Given the description of an element on the screen output the (x, y) to click on. 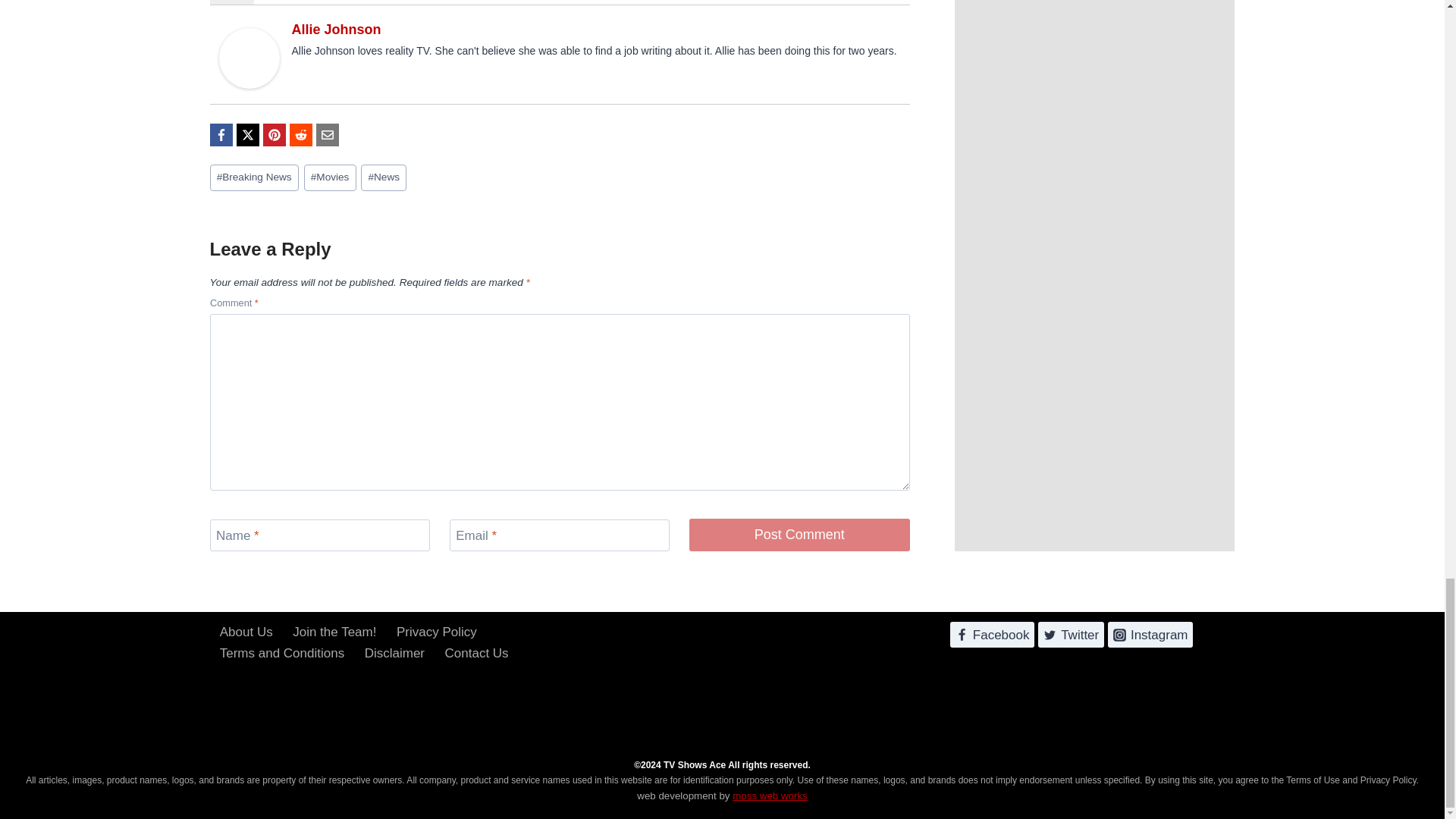
Post Comment (799, 534)
News (383, 177)
Breaking News (253, 177)
Allie Johnson (335, 29)
Author (231, 2)
Allie Johnson (248, 57)
Movies (330, 177)
Recent Posts (293, 2)
